Given the description of an element on the screen output the (x, y) to click on. 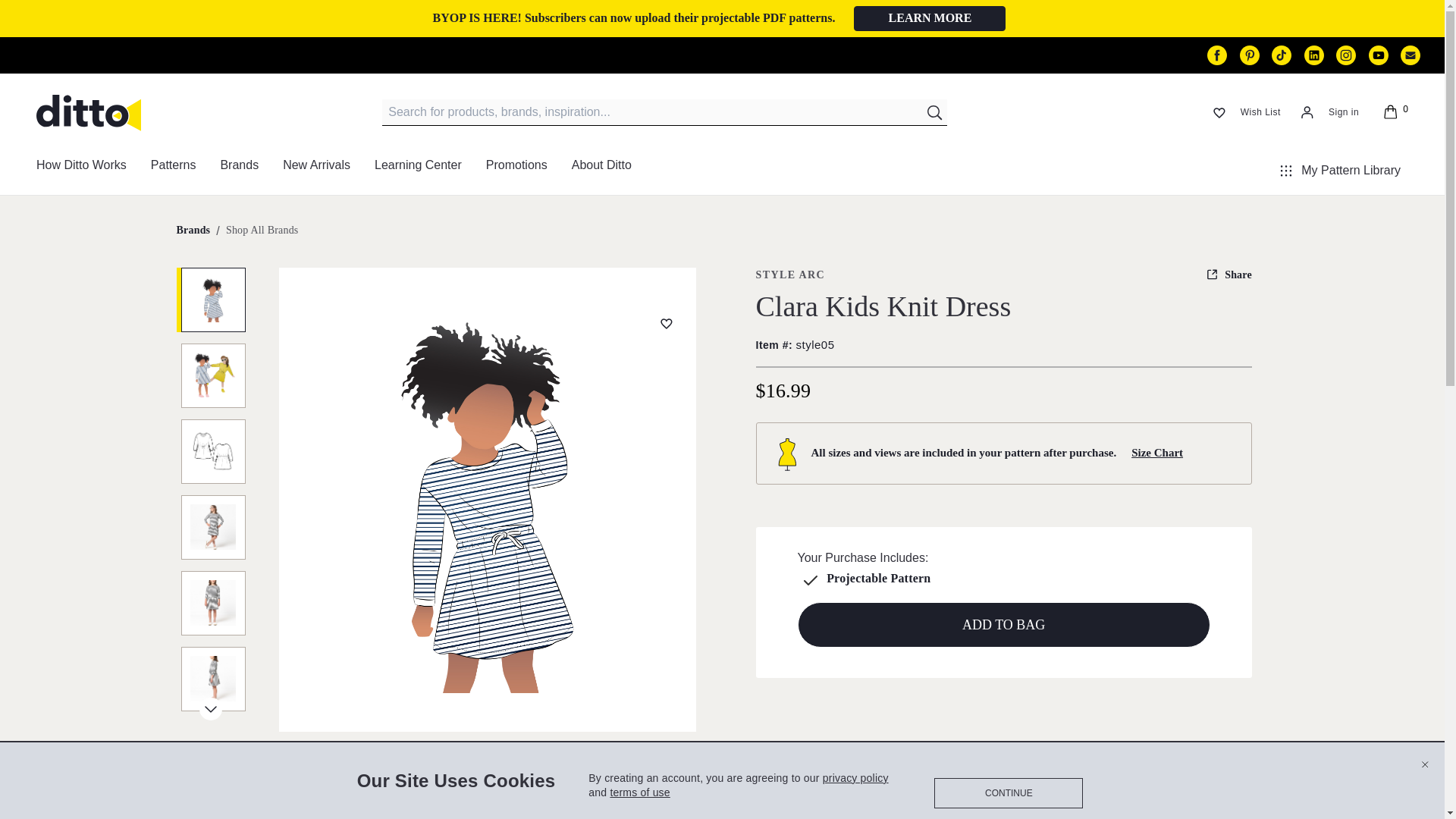
Patterns (173, 170)
Hi! Sign in. (1325, 113)
LEARN MORE (929, 18)
Submit search (935, 112)
View Cart (1392, 113)
Favorites (1242, 113)
DITTO Home (88, 113)
0 (1392, 113)
How Ditto Works (81, 170)
Sign in (1325, 113)
Wish List (1242, 113)
